Given the description of an element on the screen output the (x, y) to click on. 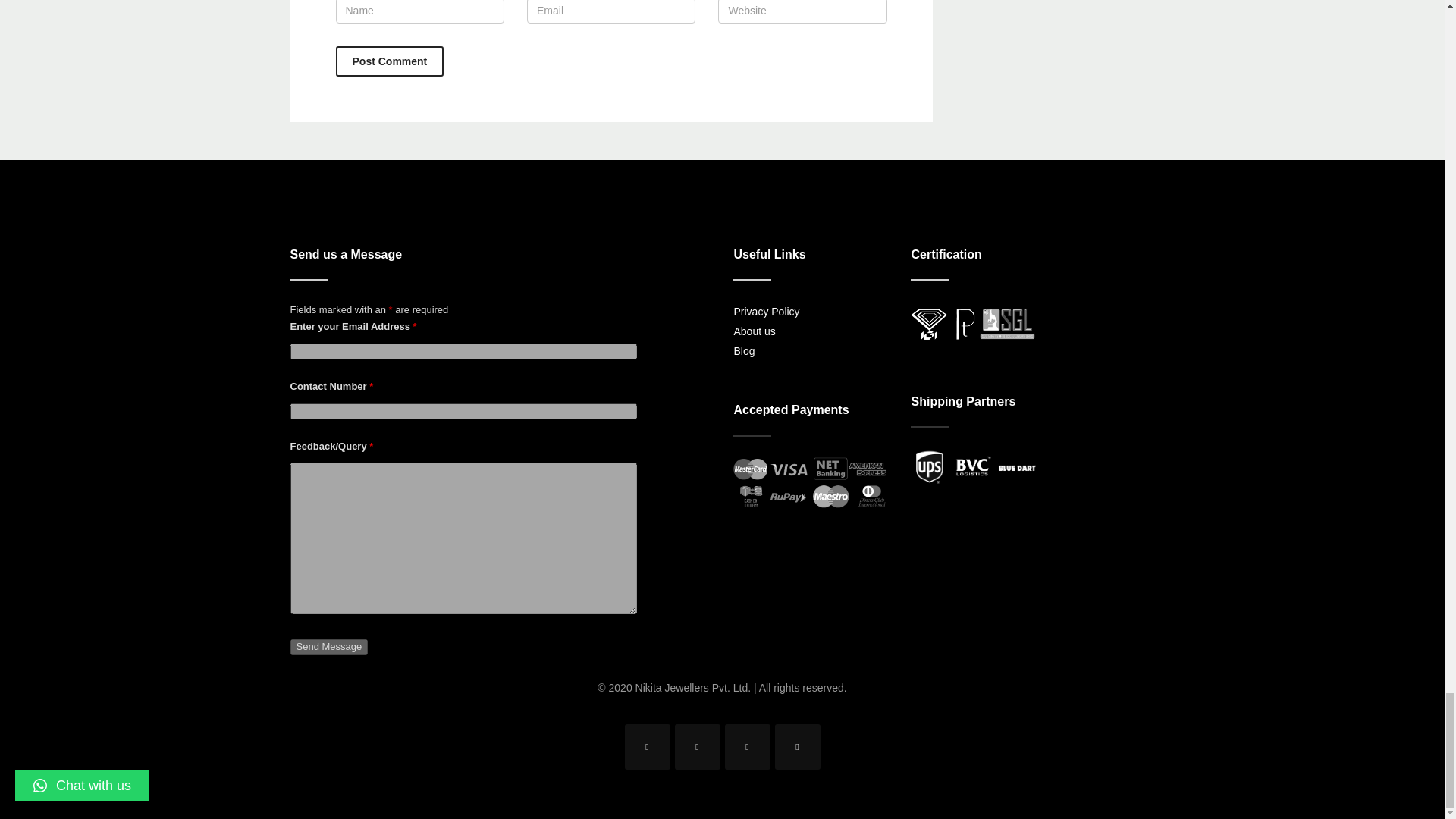
Post Comment (389, 60)
Send Message (810, 331)
